Given the description of an element on the screen output the (x, y) to click on. 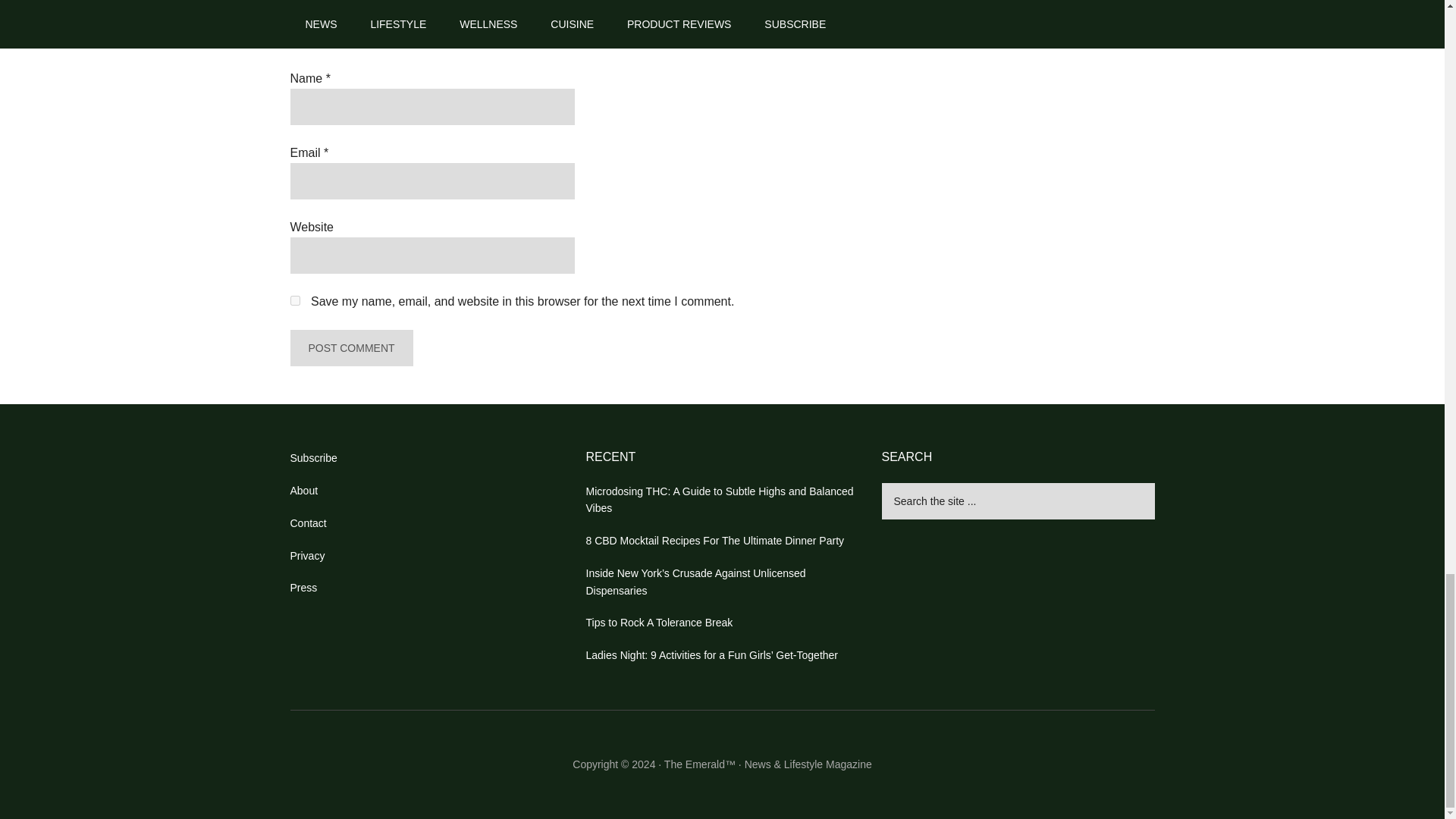
Post Comment (350, 348)
yes (294, 300)
